Given the description of an element on the screen output the (x, y) to click on. 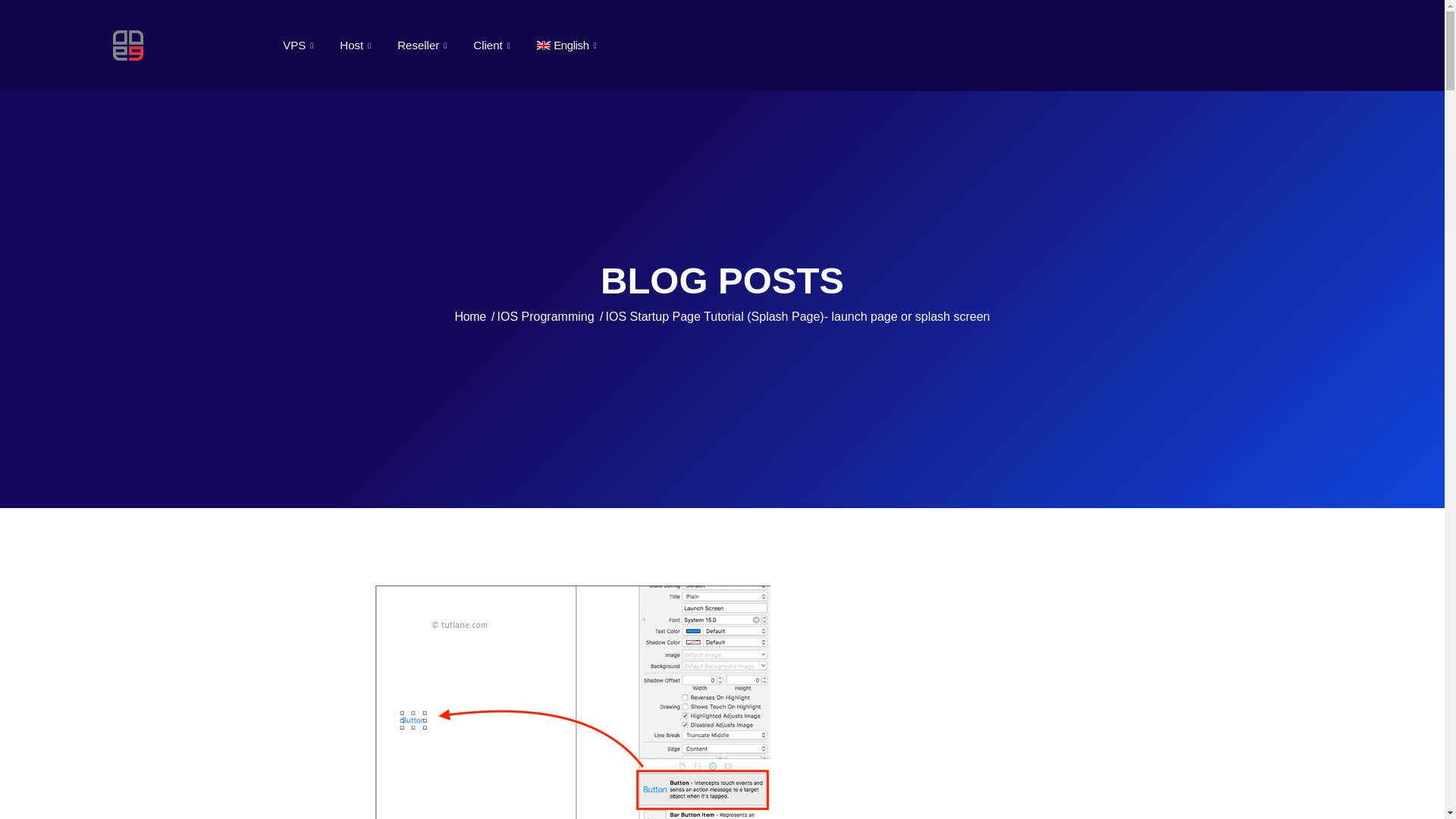
Reseller (423, 45)
Host (357, 45)
English (568, 45)
VPS (299, 45)
